Given the description of an element on the screen output the (x, y) to click on. 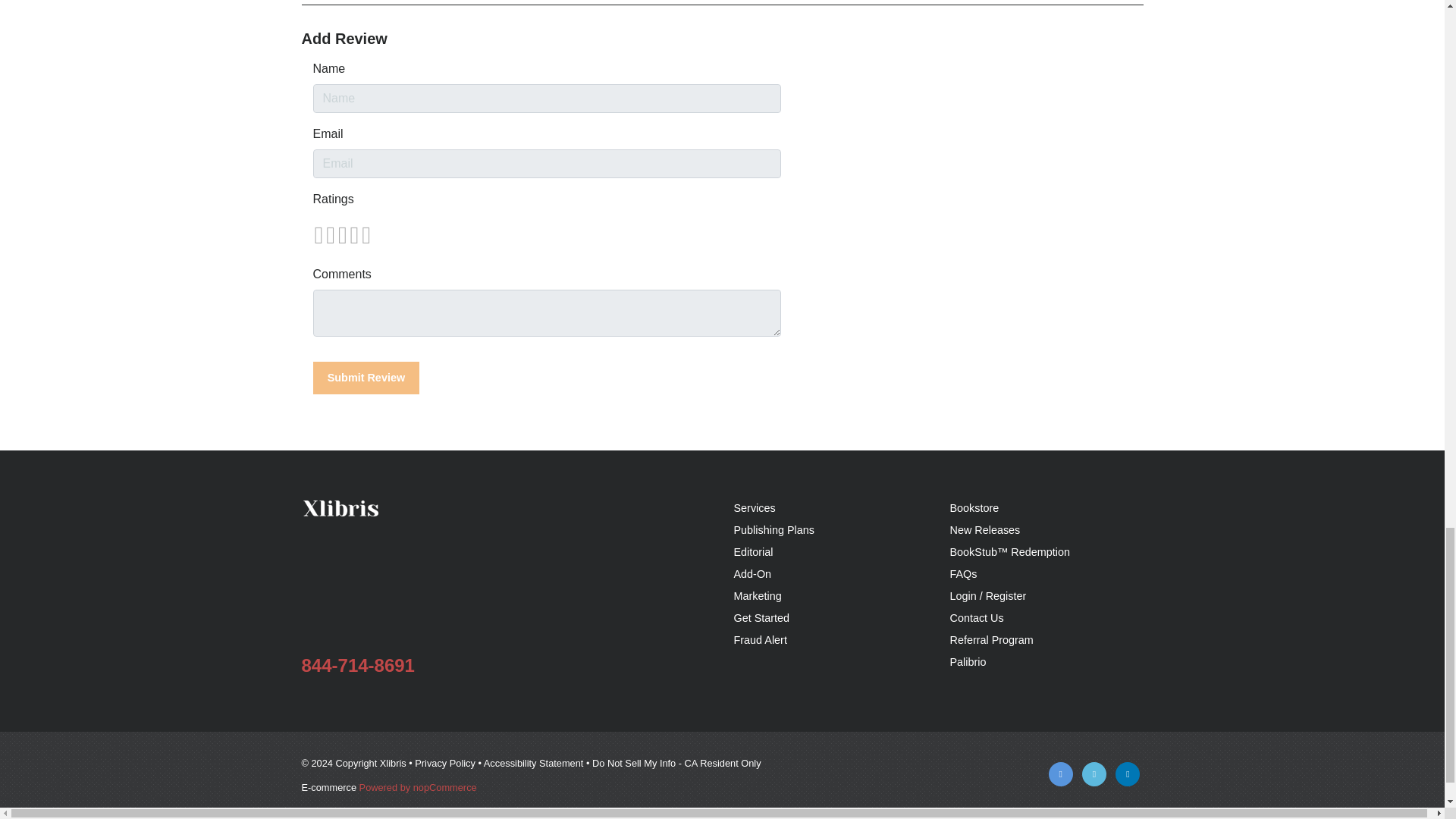
Not Rated (342, 235)
Submit Review (366, 377)
Fraud Alert (760, 639)
Submit Review (366, 377)
FAQs (962, 573)
Editorial (753, 551)
Add-On (752, 573)
844-714-8691 (357, 665)
Contact Us (976, 617)
Bookstore (973, 508)
New Releases (984, 530)
Get Started (761, 617)
Publishing Plans (773, 530)
Marketing (757, 595)
Services (754, 508)
